Given the description of an element on the screen output the (x, y) to click on. 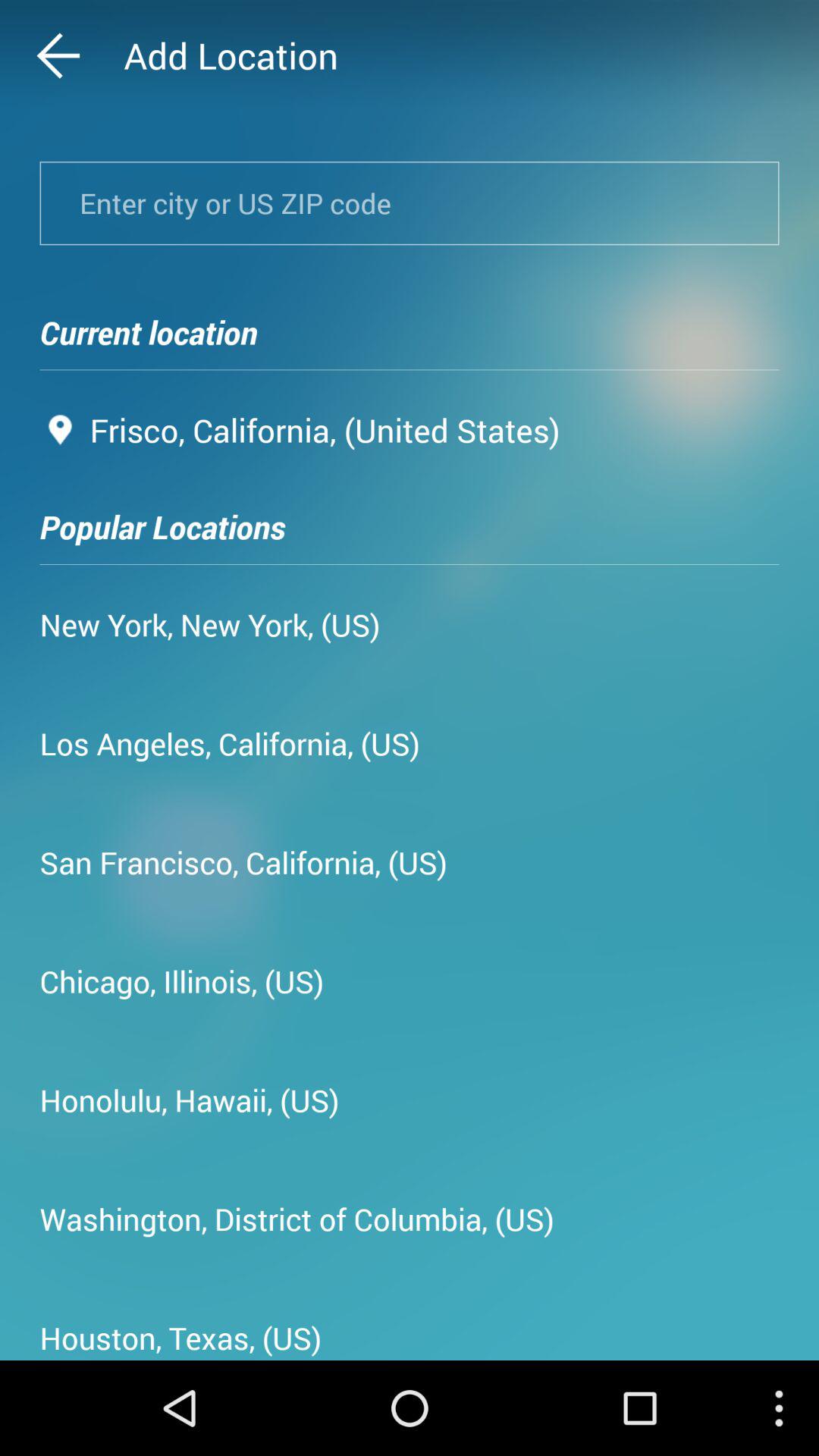
press the honolulu, hawaii, (us) icon (189, 1099)
